Given the description of an element on the screen output the (x, y) to click on. 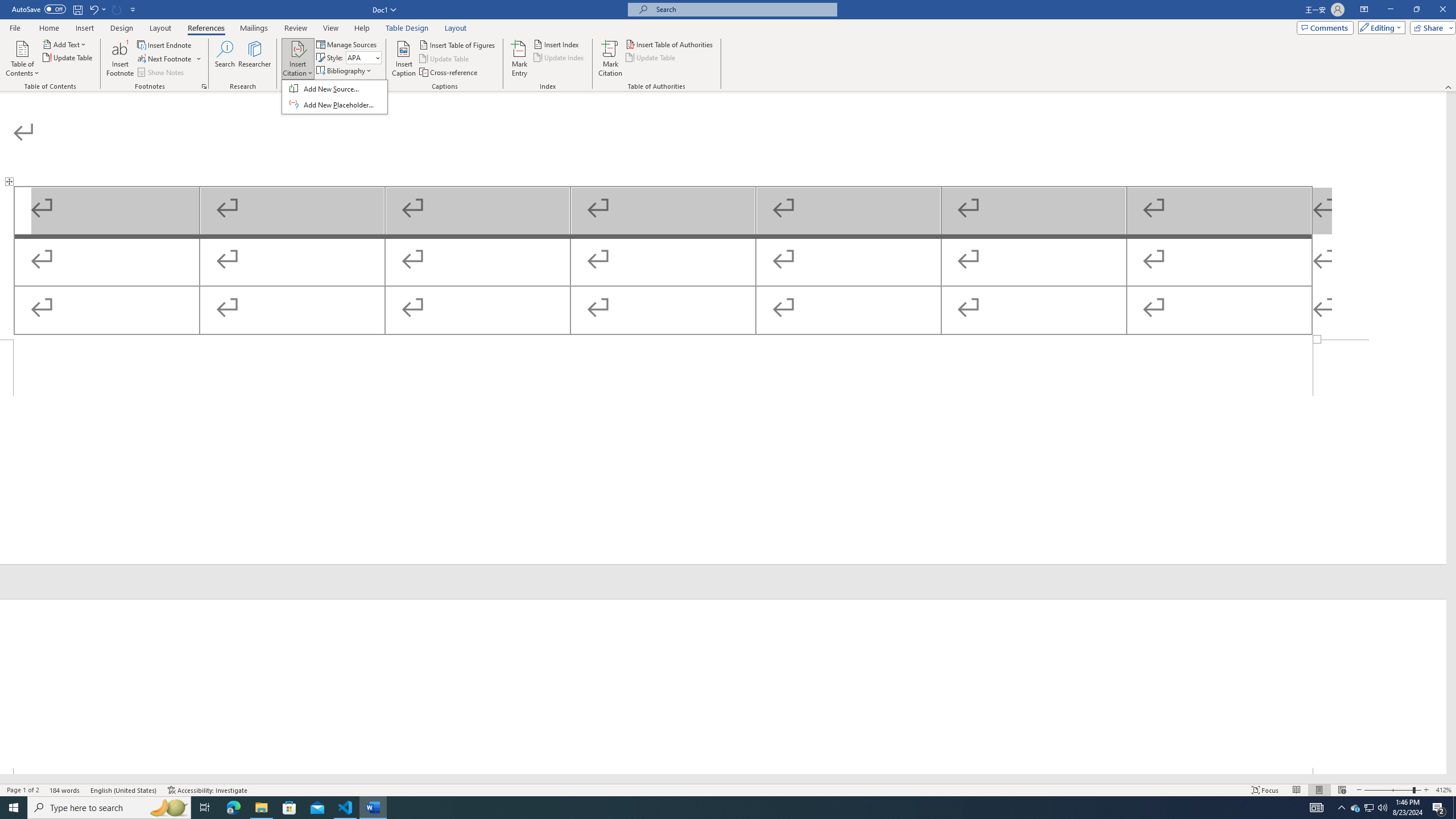
Insert Endnote (165, 44)
Add Text (65, 44)
Page Number Page 1 of 2 (22, 790)
Footnote and Endnote Dialog... (1368, 807)
Next Footnote (203, 85)
User Promoted Notification Area (165, 58)
Microsoft Edge (1368, 807)
Header -Section 1- (233, 807)
